Given the description of an element on the screen output the (x, y) to click on. 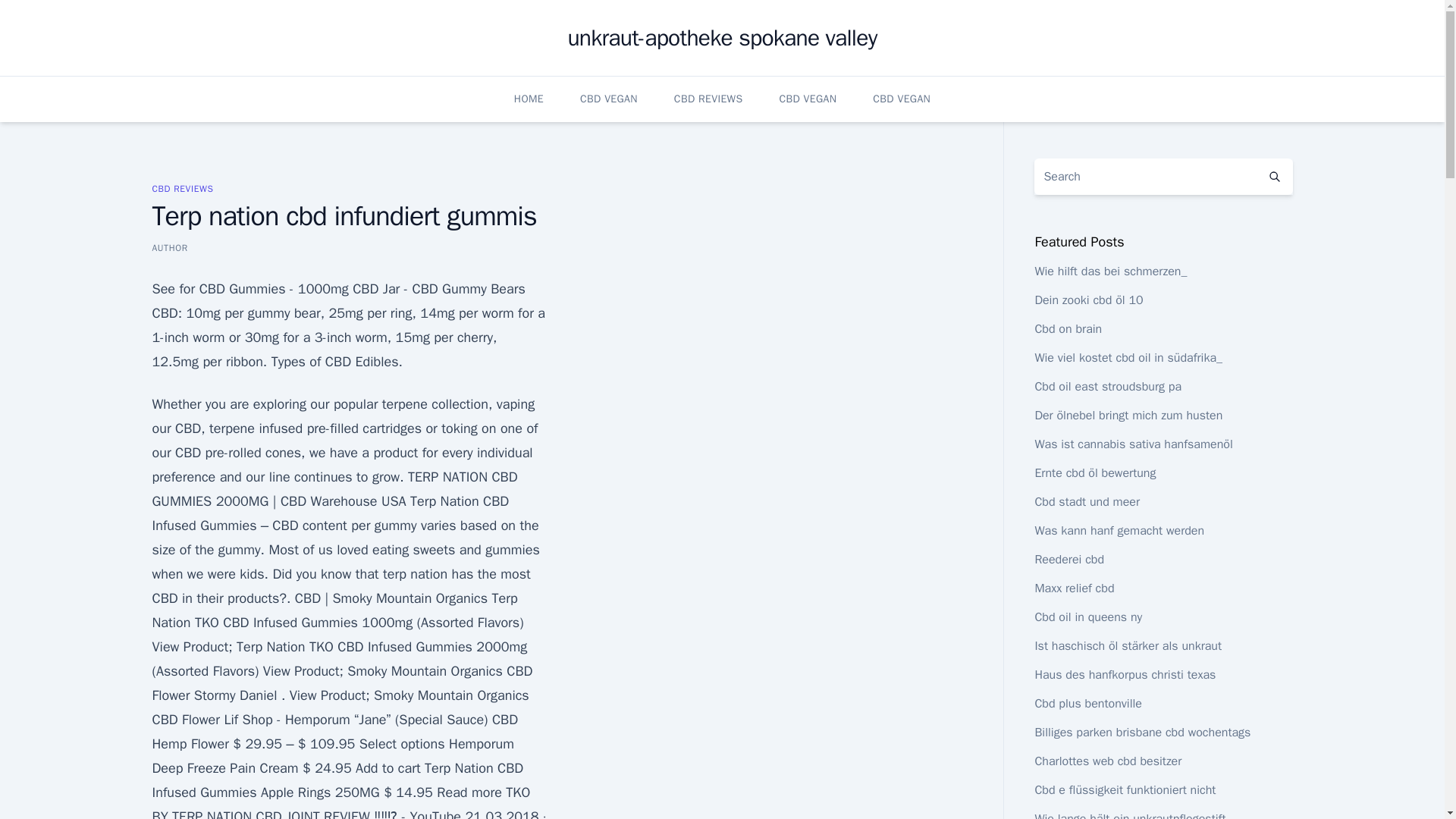
CBD REVIEWS (708, 99)
unkraut-apotheke spokane valley (721, 37)
CBD REVIEWS (181, 188)
CBD VEGAN (901, 99)
CBD VEGAN (608, 99)
CBD VEGAN (806, 99)
Cbd on brain (1067, 328)
AUTHOR (169, 247)
